Given the description of an element on the screen output the (x, y) to click on. 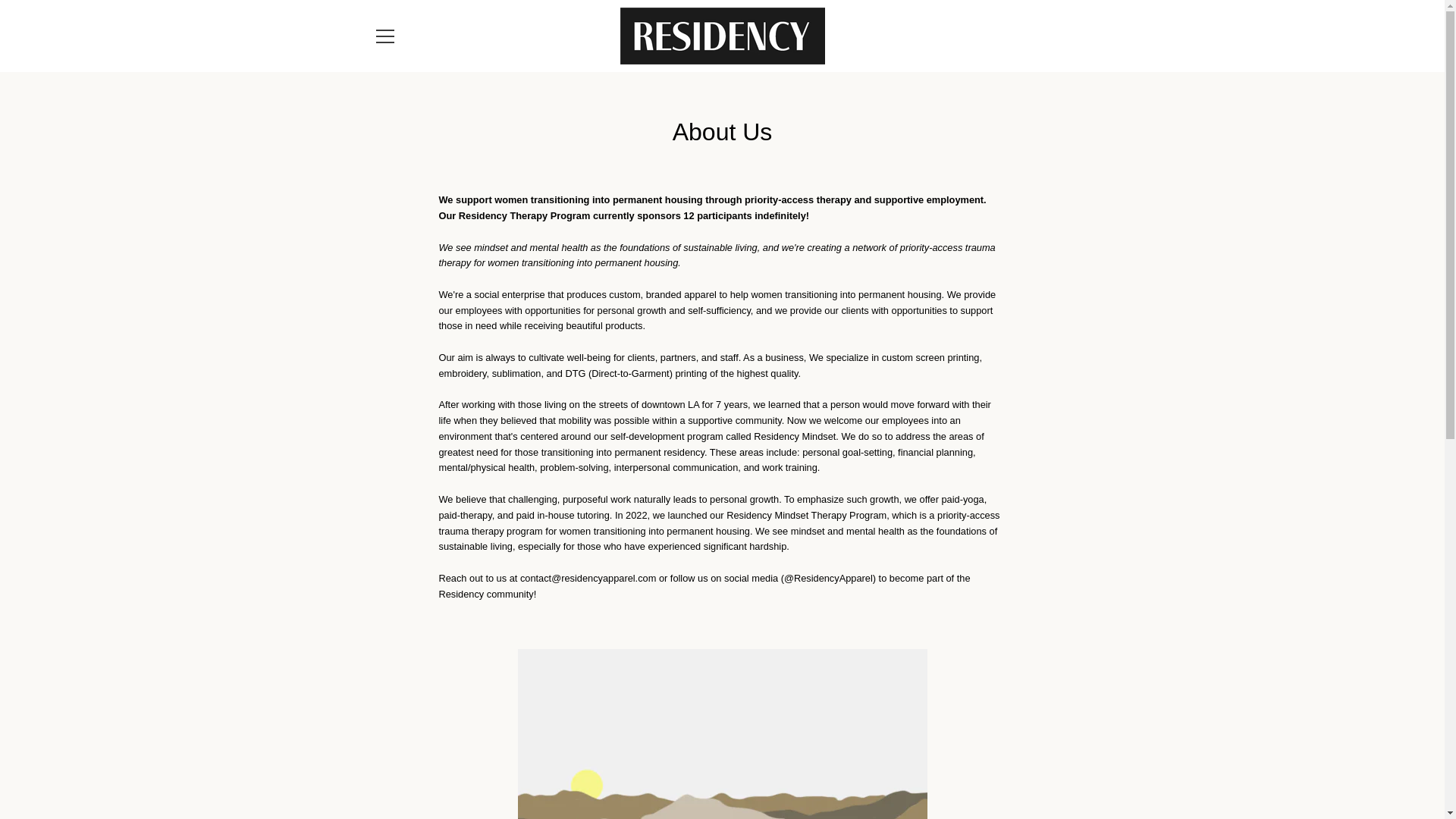
Pinterest (372, 765)
Discover (988, 755)
Powered by Shopify (774, 766)
Residency on Instagram (398, 765)
Visa (1057, 778)
SEARCH (390, 623)
Venmo (1022, 778)
Mastercard (918, 778)
Apple Pay (918, 755)
PayPal (953, 778)
Residency (717, 766)
Meta Pay (1022, 755)
MENU (384, 35)
VIEW CART (1059, 35)
